Given the description of an element on the screen output the (x, y) to click on. 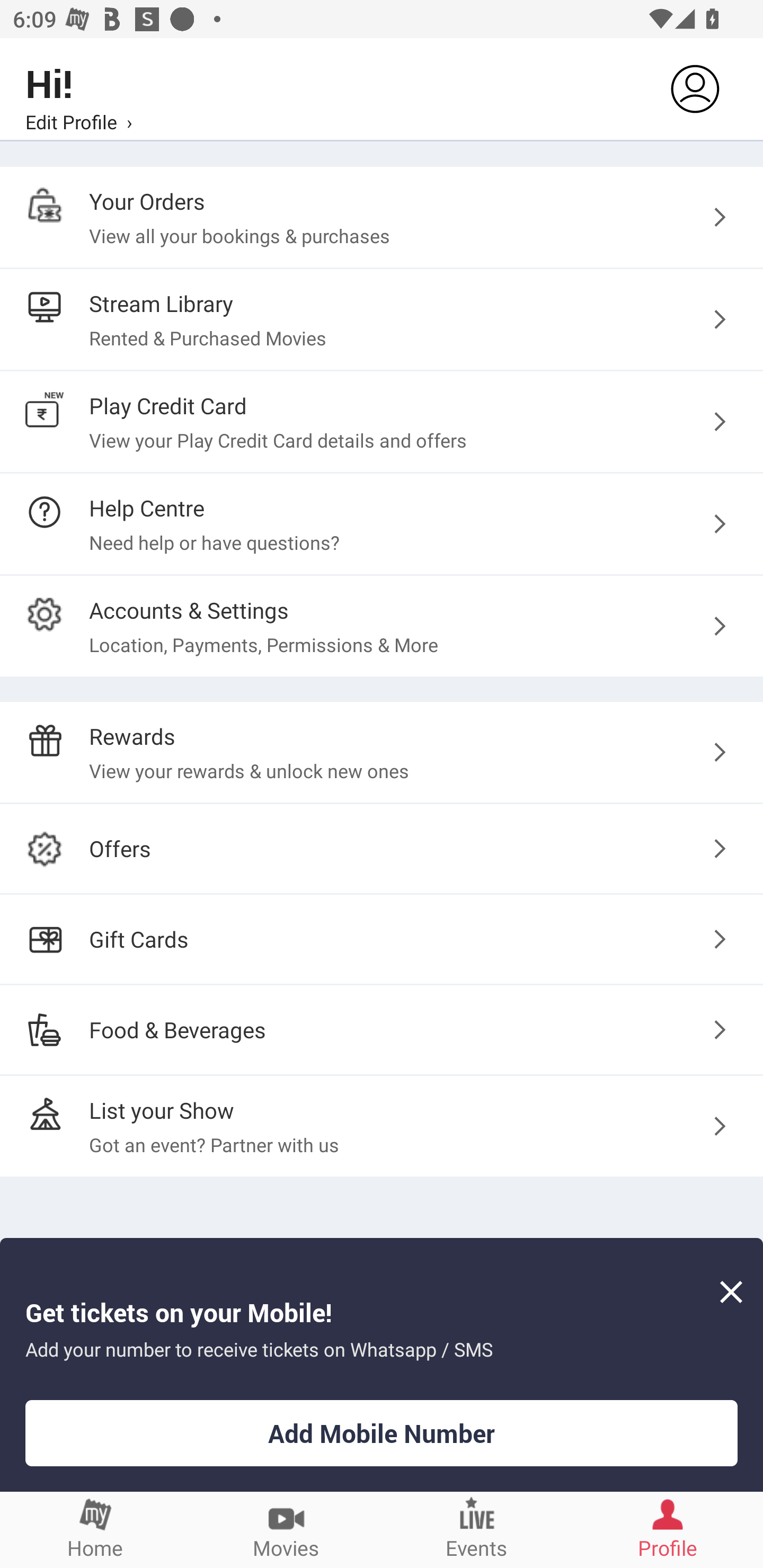
Edit Profile  › (78, 121)
Your Orders View all your bookings & purchases (381, 217)
Stream Library Rented & Purchased Movies (381, 319)
Help Centre Need help or have questions? (381, 523)
Rewards View your rewards & unlock new ones (381, 752)
Offers (381, 848)
Gift Cards (381, 939)
Food & Beverages (381, 1029)
List your Show Got an event? Partner with us (381, 1125)
Add Mobile Number (381, 1432)
Home (95, 1529)
Movies (285, 1529)
Events (476, 1529)
Profile (667, 1529)
